Given the description of an element on the screen output the (x, y) to click on. 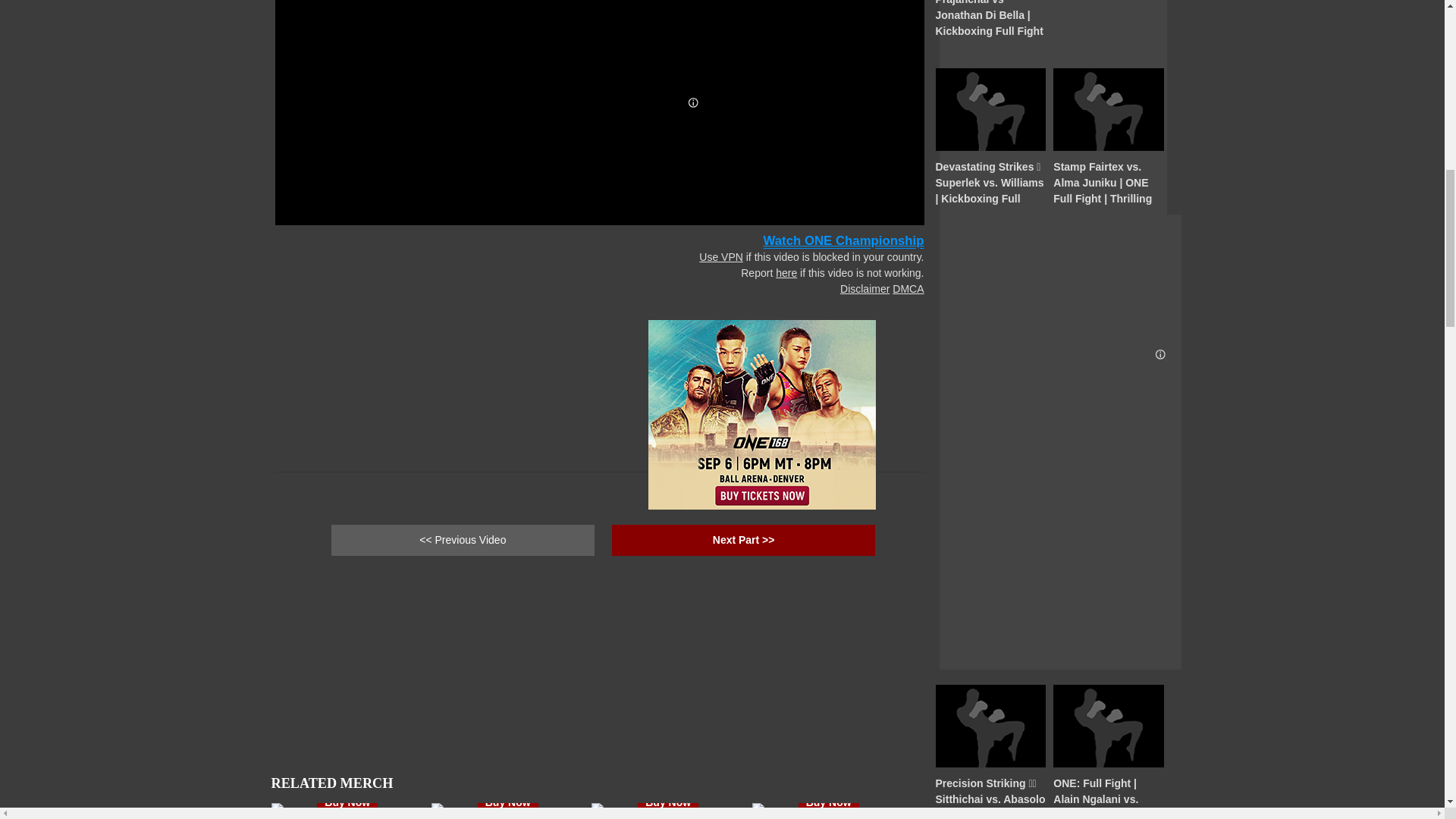
Watch ONE Championship (843, 240)
Buy Now (347, 802)
Use VPN (720, 256)
here (786, 272)
DMCA (907, 288)
Disclaimer (864, 288)
Buy Now (667, 802)
Buy Total Striking Control by Alexsandro Pereira (507, 802)
Buy Now (828, 802)
